Given the description of an element on the screen output the (x, y) to click on. 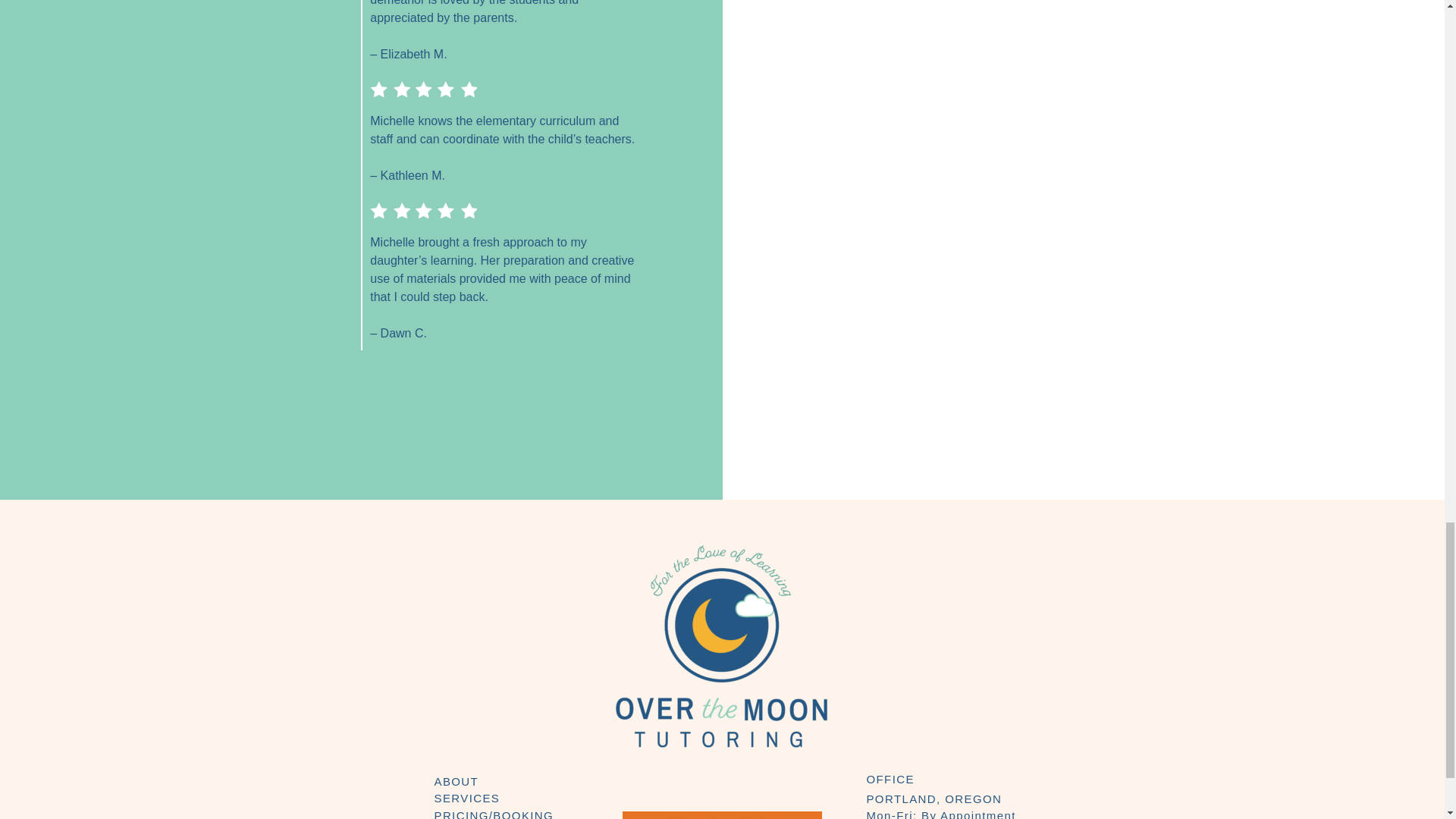
ABOUT (456, 780)
SCHEDULE A BOOKING (722, 815)
SERVICES (466, 797)
